Given the description of an element on the screen output the (x, y) to click on. 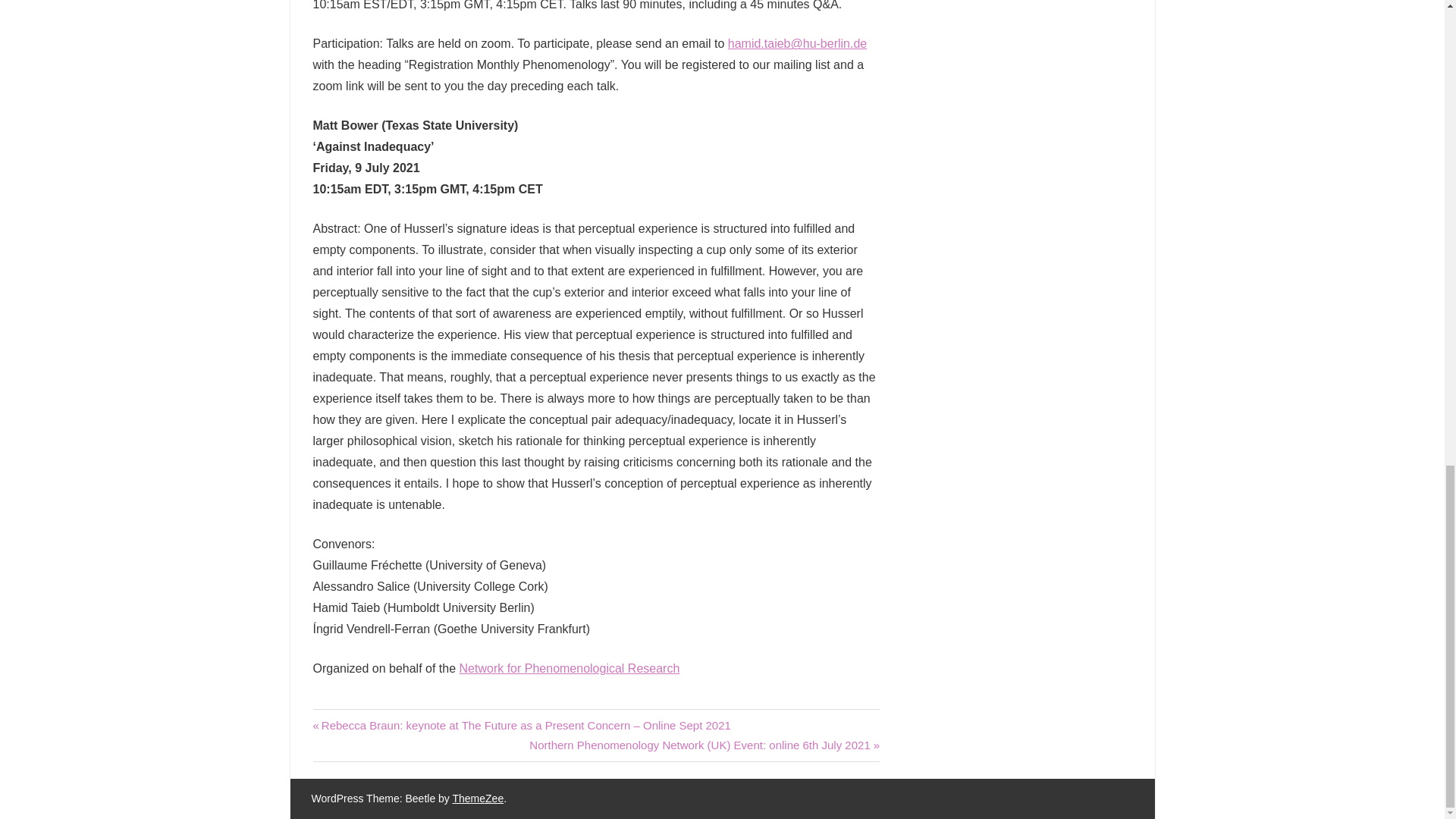
Network for Phenomenological Research (569, 667)
ThemeZee (477, 798)
